Given the description of an element on the screen output the (x, y) to click on. 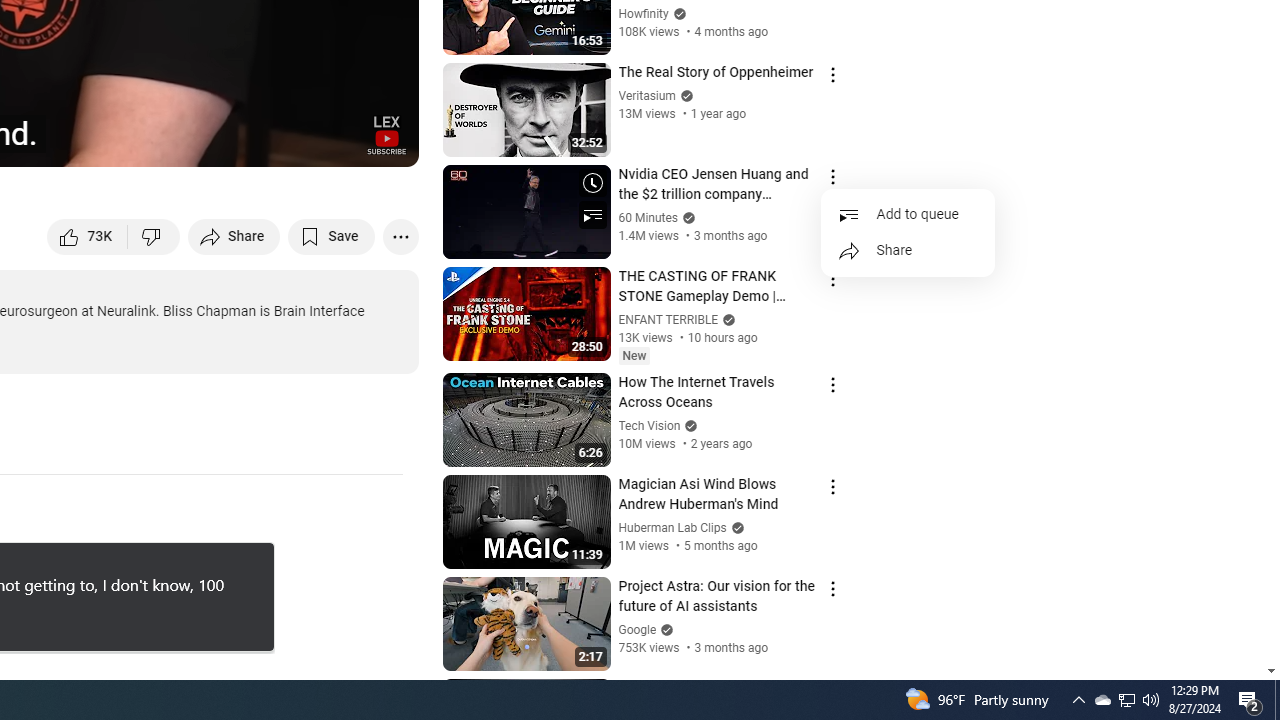
Share (907, 251)
Channel watermark (386, 134)
New (634, 356)
Full screen (f) (382, 142)
Add to queue (907, 215)
More actions (399, 236)
Subtitles/closed captions unavailable (190, 142)
Add to queue (907, 215)
Channel watermark (386, 134)
like this video along with 73,133 other people (88, 236)
